Given the description of an element on the screen output the (x, y) to click on. 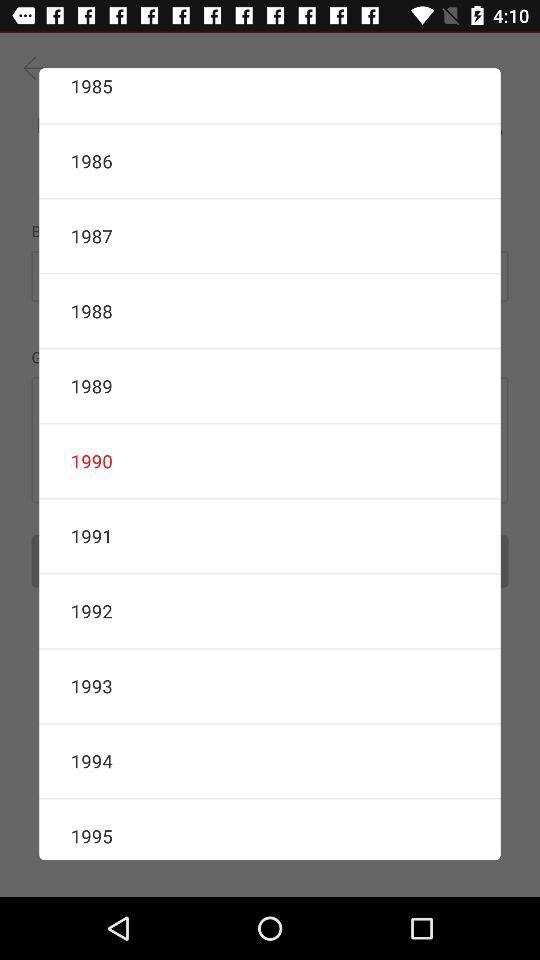
click the icon above 1995 (269, 761)
